Given the description of an element on the screen output the (x, y) to click on. 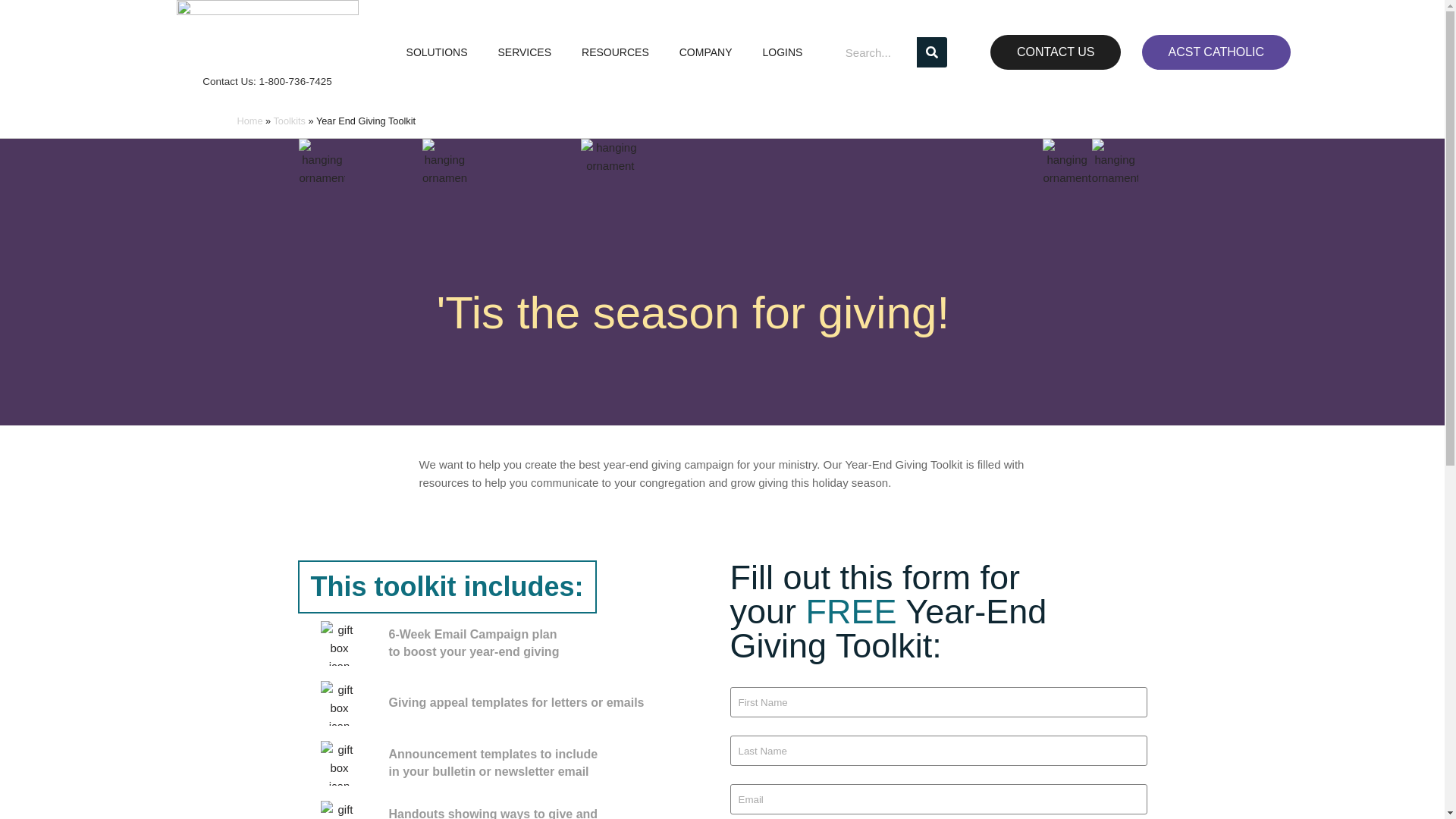
SOLUTIONS (440, 52)
SERVICES (528, 52)
Contact Us: 1-800-736-7425 (266, 81)
RESOURCES (619, 52)
COMPANY (709, 52)
Skip to content (11, 31)
